Given the description of an element on the screen output the (x, y) to click on. 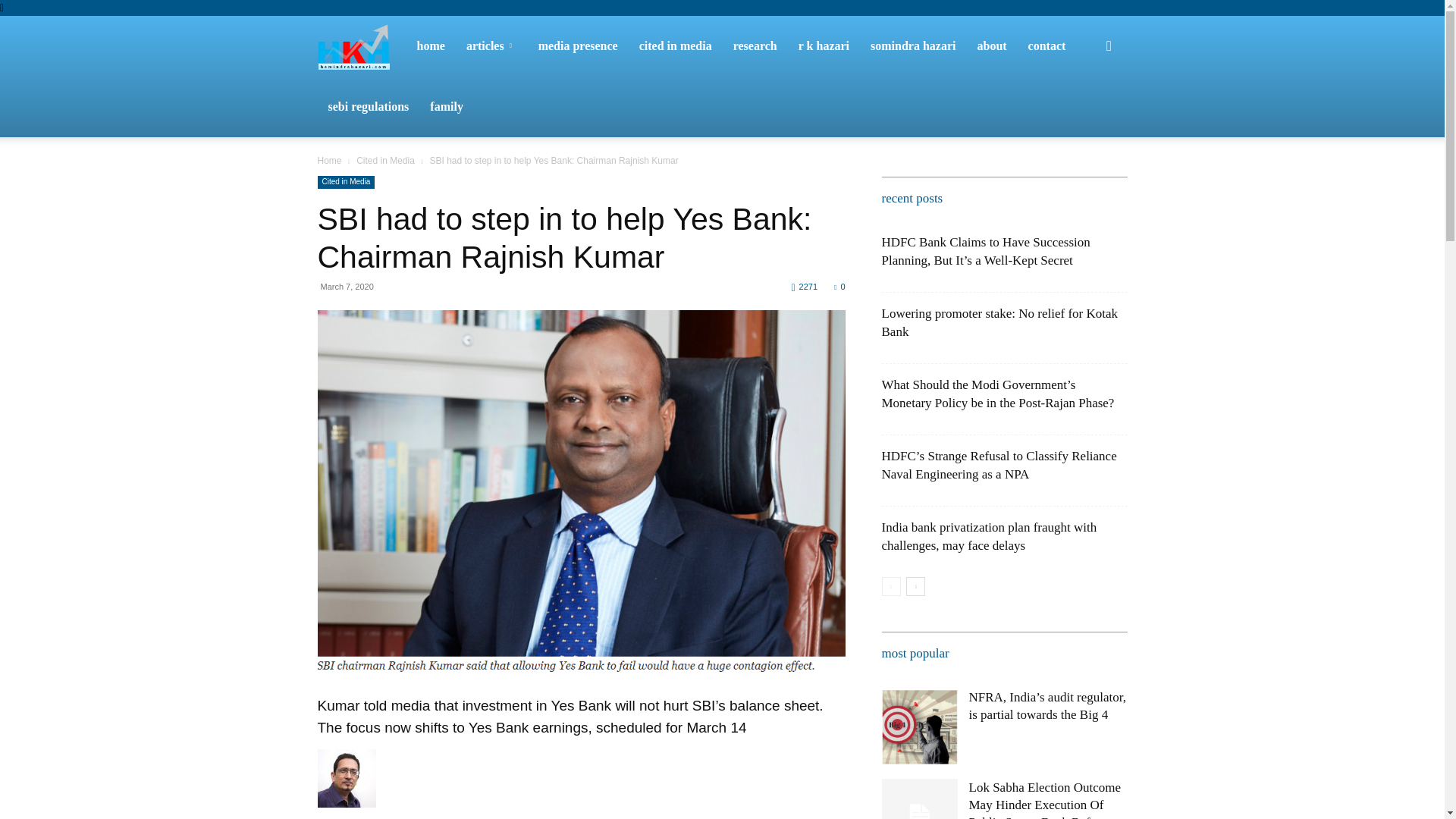
media presence (577, 45)
View all posts in Cited in Media (385, 160)
Hemindra Hazari (361, 45)
contact (1047, 45)
Search (1085, 119)
family (446, 106)
articles (491, 45)
research (754, 45)
sebi regulations (368, 106)
somindra hazari (913, 45)
cited in media (675, 45)
r k hazari (823, 45)
